Given the description of an element on the screen output the (x, y) to click on. 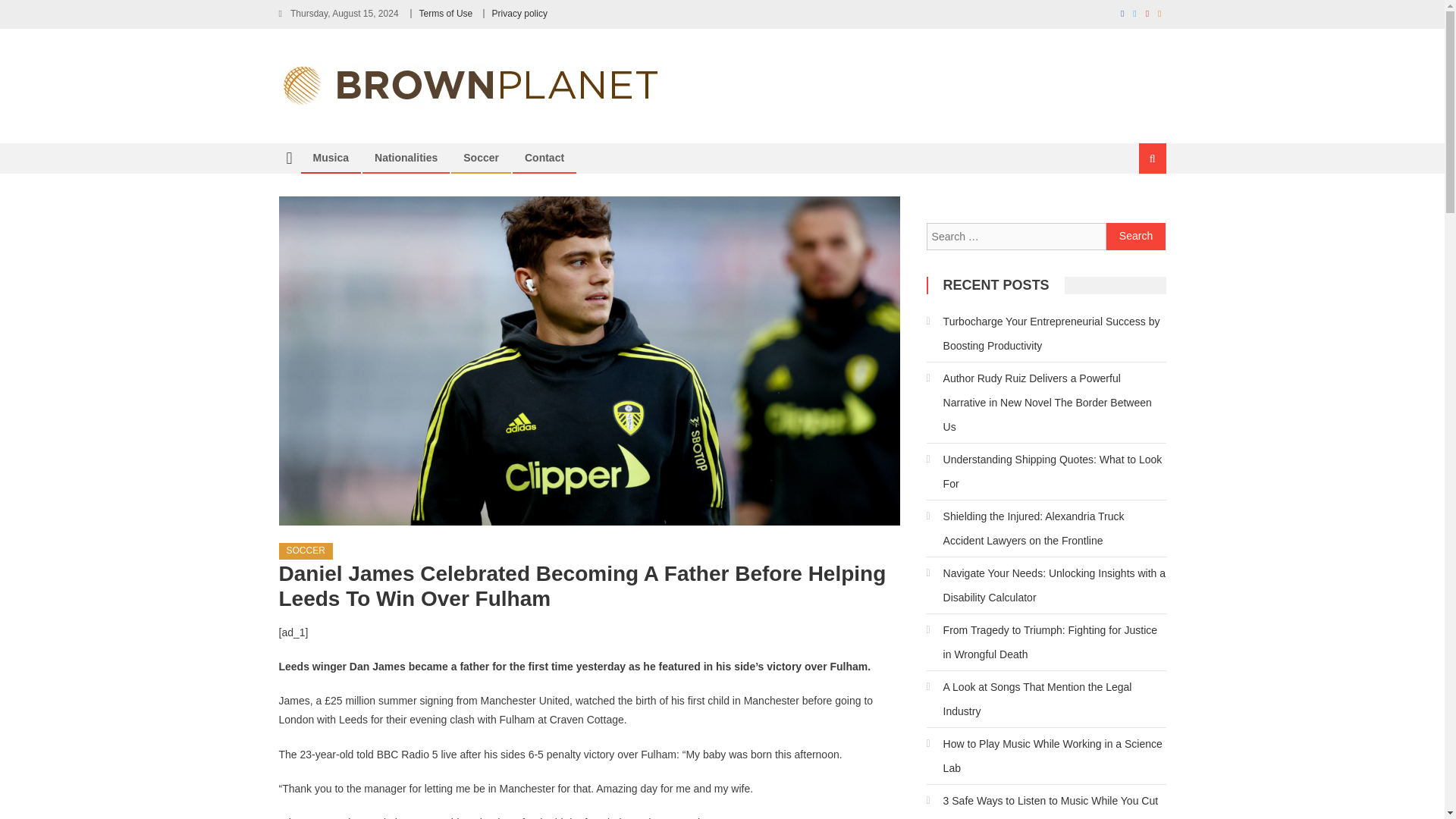
SOCCER (306, 550)
Search (1136, 236)
Musica (330, 157)
Nationalities (405, 157)
Search (1133, 208)
Contact (544, 157)
Privacy policy (519, 13)
Soccer (481, 157)
Terms of Use (446, 13)
Search (1136, 236)
